Given the description of an element on the screen output the (x, y) to click on. 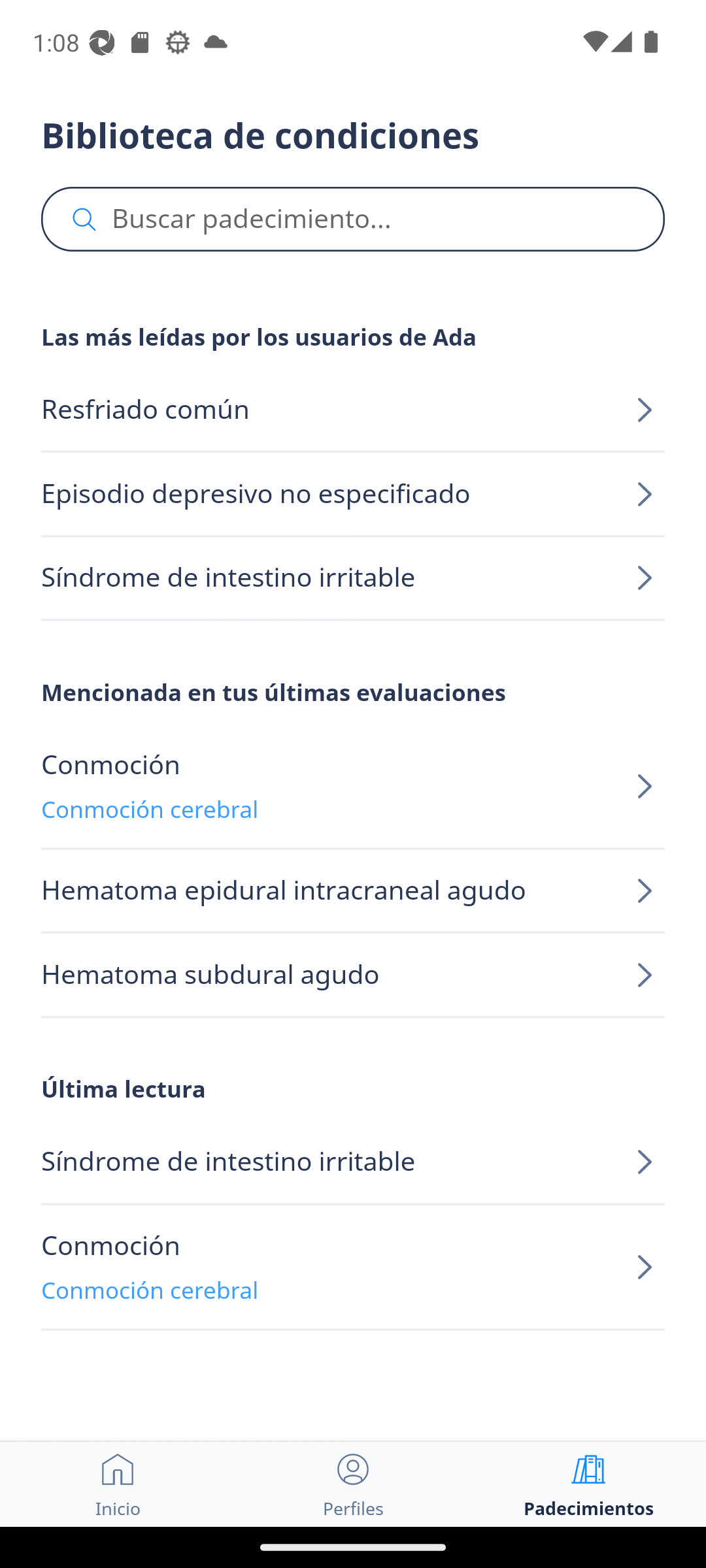
Buscar padecimiento... (352, 219)
Resfriado común (352, 409)
Episodio depresivo no especificado (352, 494)
Síndrome de intestino irritable (352, 578)
Conmoción Conmoción cerebral (352, 786)
Hematoma epidural intracraneal agudo (352, 890)
Hematoma subdural agudo (352, 974)
Síndrome de intestino irritable (352, 1162)
Conmoción Conmoción cerebral (352, 1266)
Inicio (117, 1484)
Perfiles (352, 1484)
Padecimientos (588, 1484)
